Given the description of an element on the screen output the (x, y) to click on. 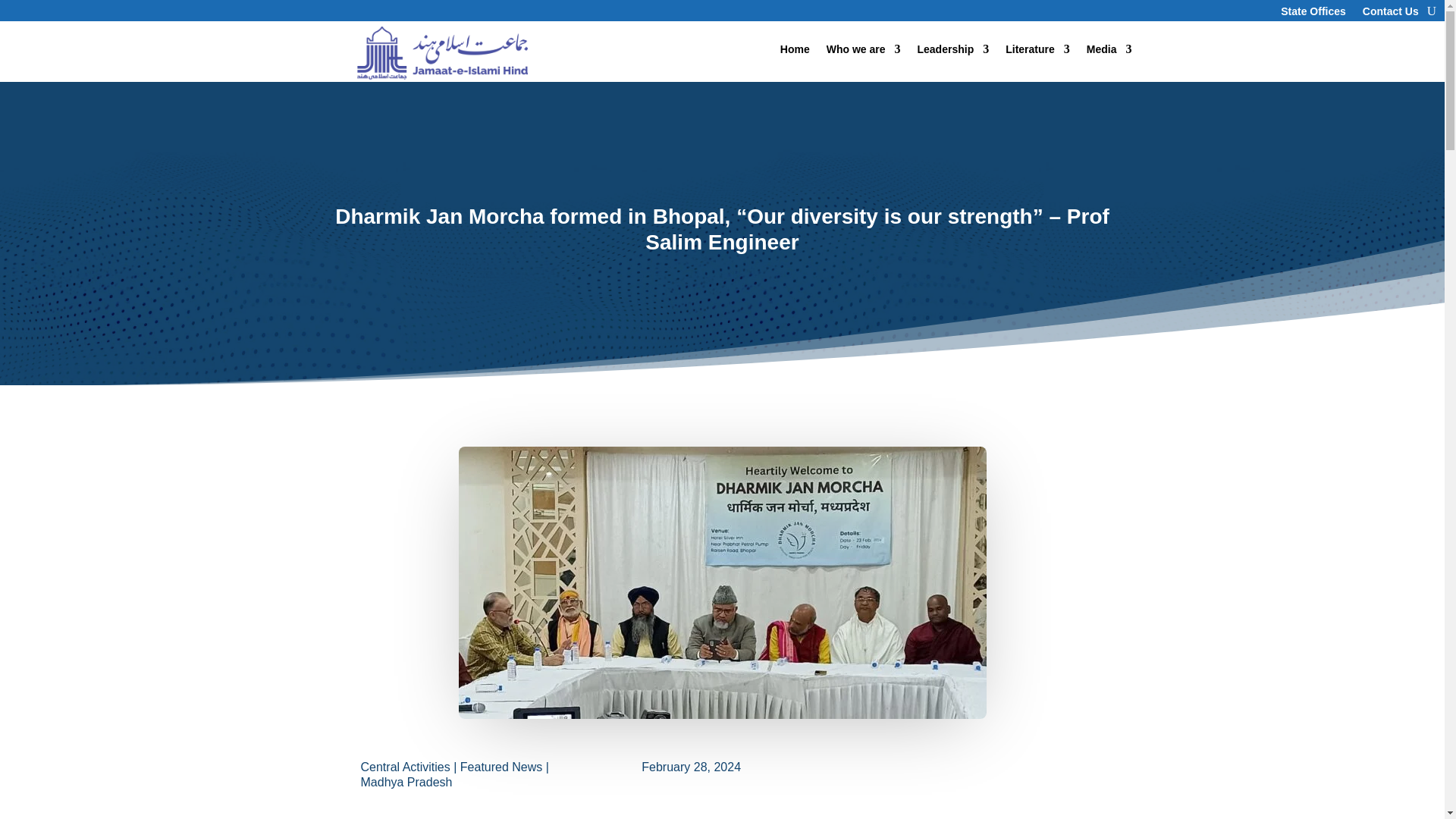
JIH-Logo reverse (441, 52)
Home (794, 52)
Contact Us (1390, 13)
Media (1109, 52)
Literature (1038, 52)
Who we are (864, 52)
Leadership (953, 52)
State Offices (1313, 13)
